Given the description of an element on the screen output the (x, y) to click on. 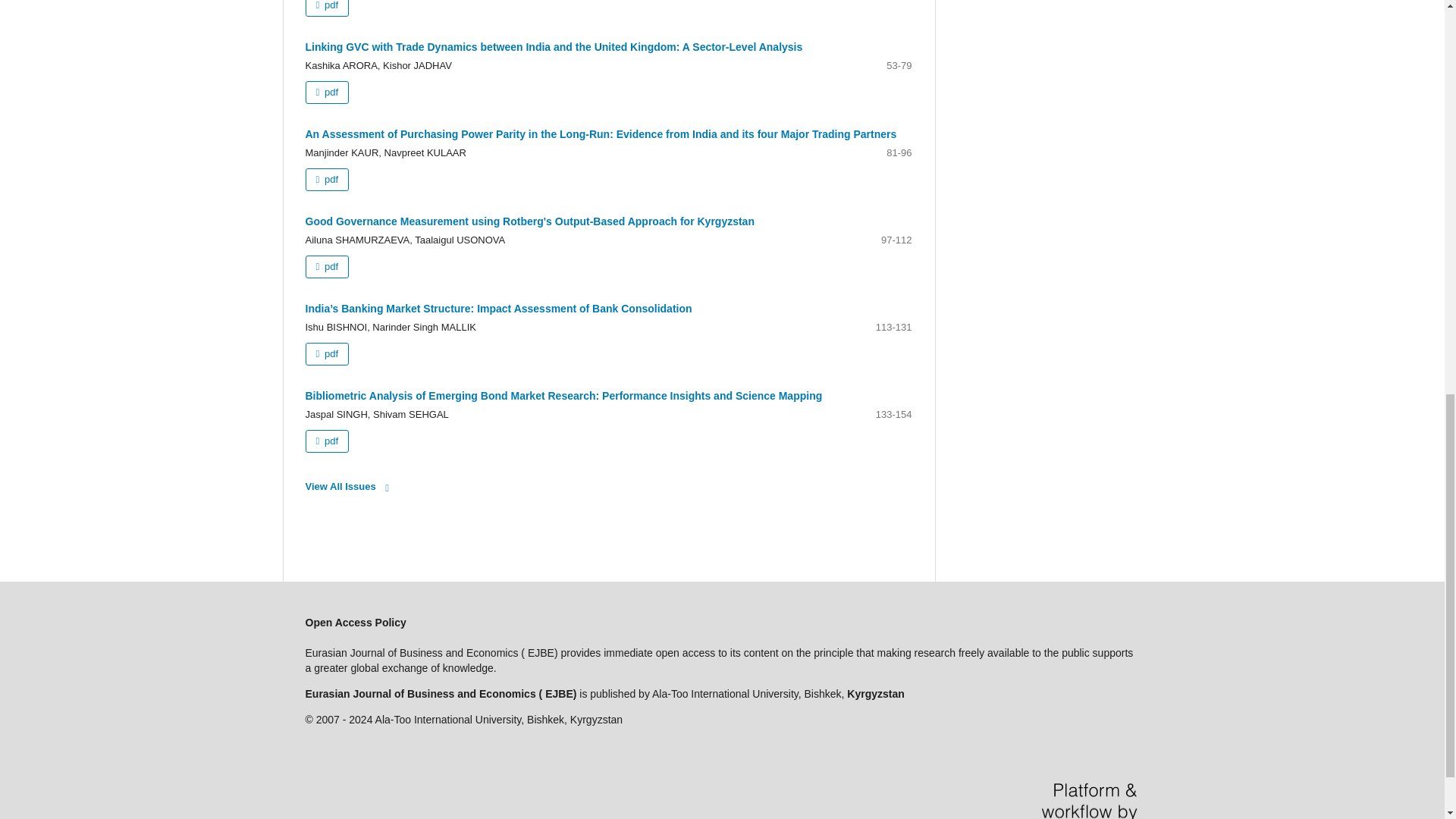
pdf (326, 354)
pdf (326, 266)
pdf (326, 179)
pdf (326, 92)
pdf (326, 8)
